Given the description of an element on the screen output the (x, y) to click on. 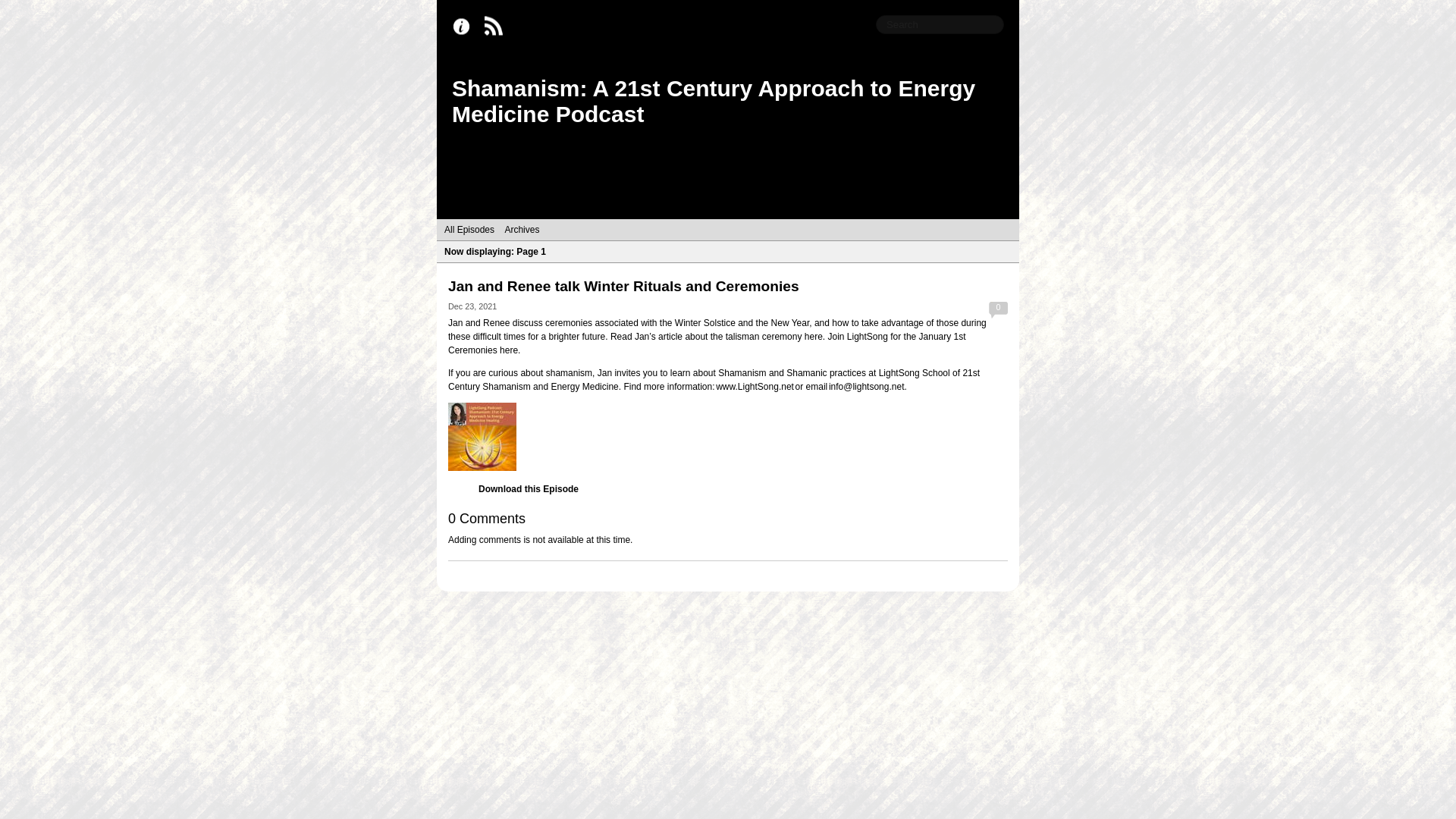
RSS Feed (496, 26)
Libsyn Player (727, 436)
